Given the description of an element on the screen output the (x, y) to click on. 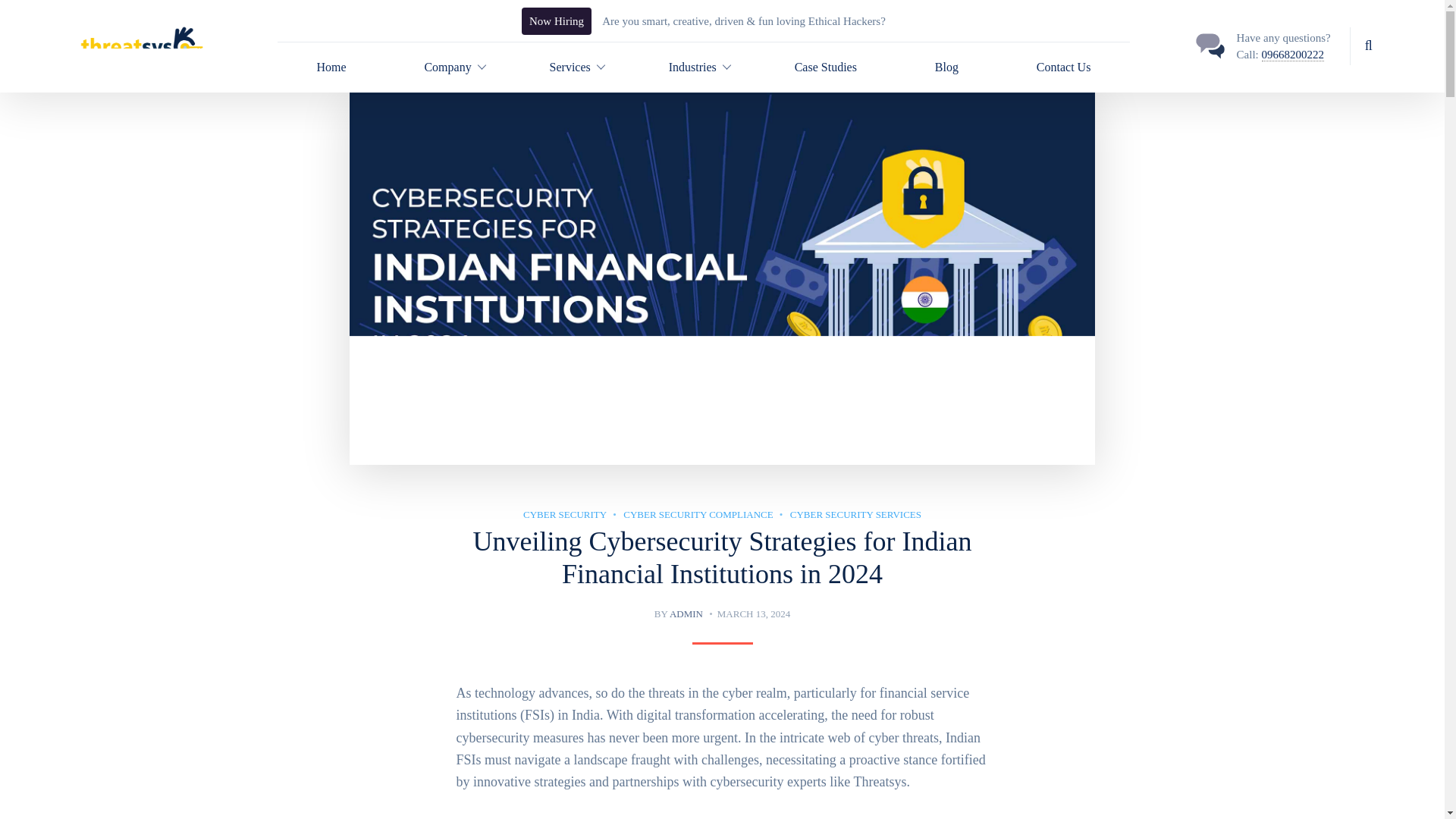
Home (331, 67)
Now Hiring (556, 21)
Posts by admin (686, 613)
Company (446, 67)
